Given the description of an element on the screen output the (x, y) to click on. 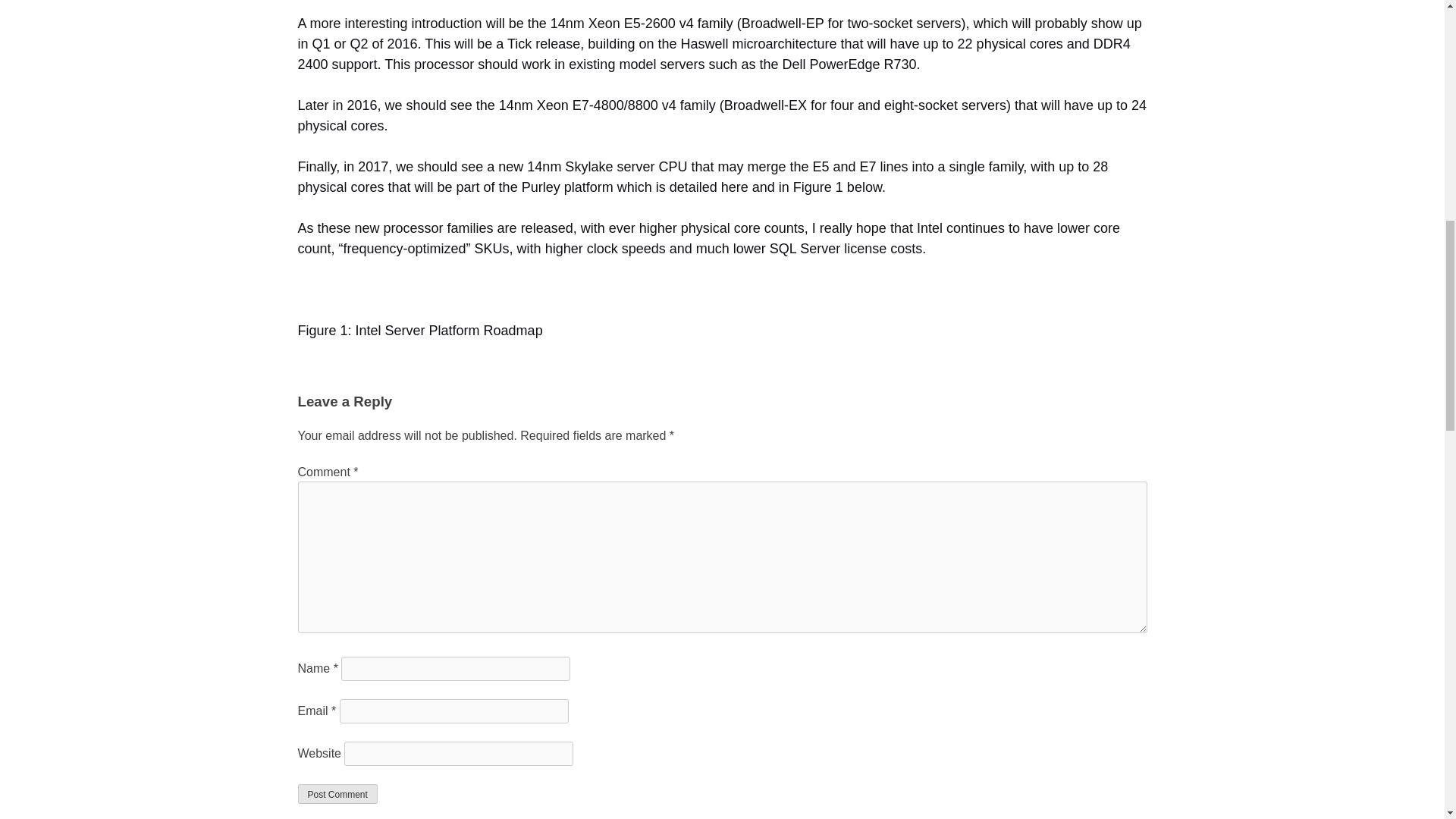
Post Comment (337, 793)
Post Comment (337, 793)
